Given the description of an element on the screen output the (x, y) to click on. 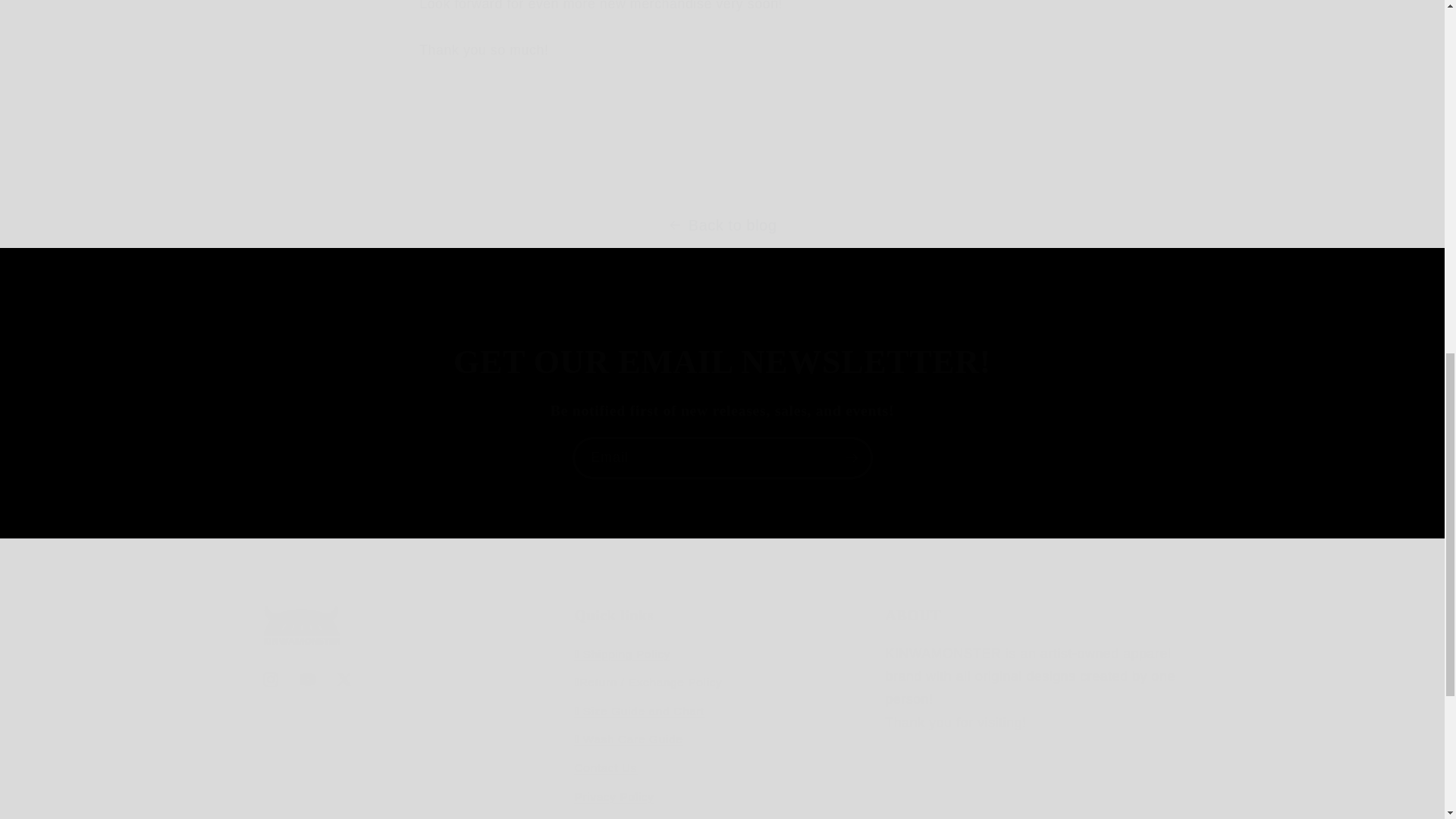
Be notified first of new releases, sales, and events! (722, 410)
Email (722, 457)
GET OUR EMAIL NEWSLETTER! (722, 362)
